Given the description of an element on the screen output the (x, y) to click on. 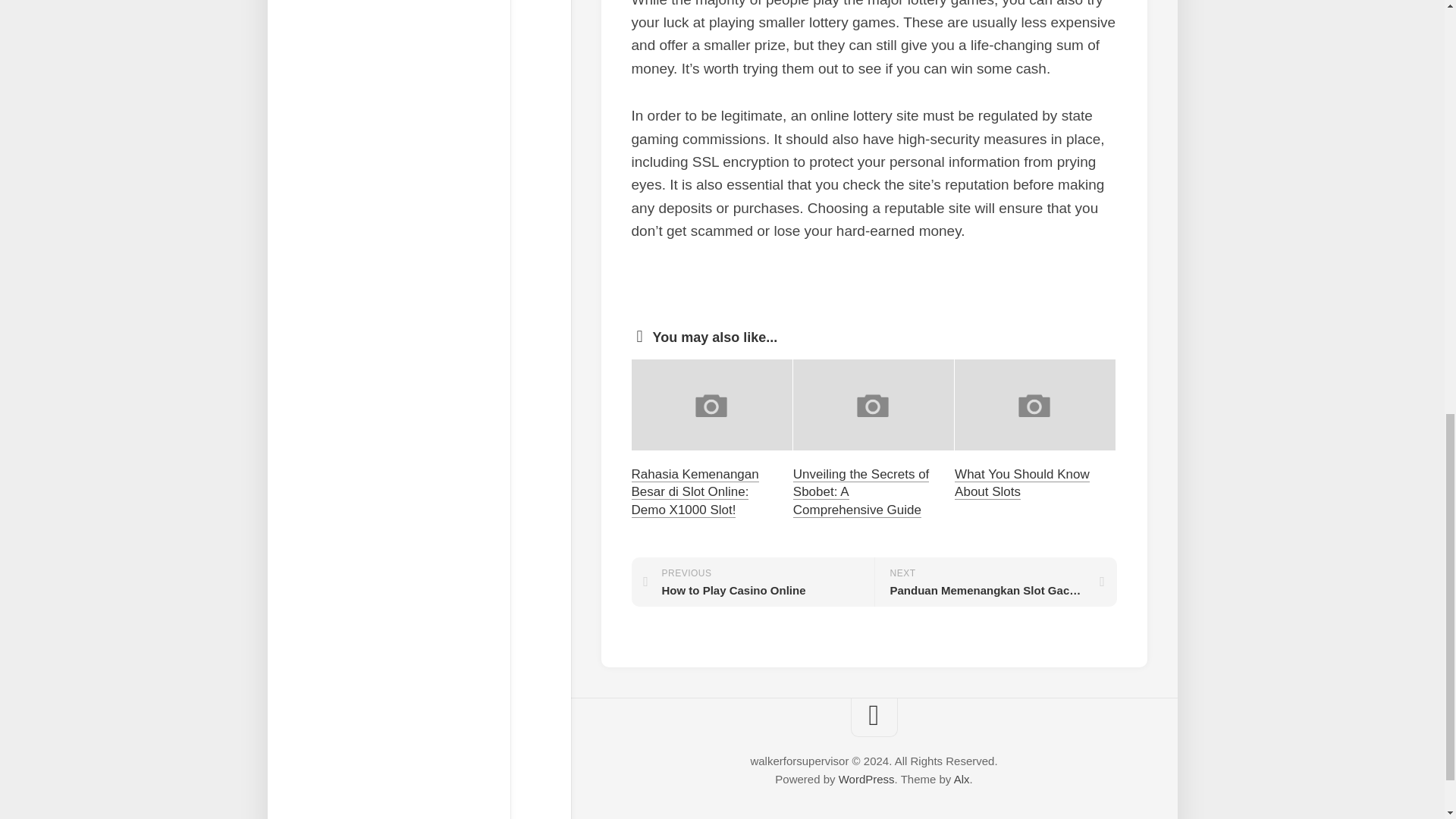
Alx (751, 581)
WordPress (961, 779)
What You Should Know About Slots (866, 779)
Rahasia Kemenangan Besar di Slot Online: Demo X1000 Slot! (1022, 482)
Unveiling the Secrets of Sbobet: A Comprehensive Guide (694, 491)
